Given the description of an element on the screen output the (x, y) to click on. 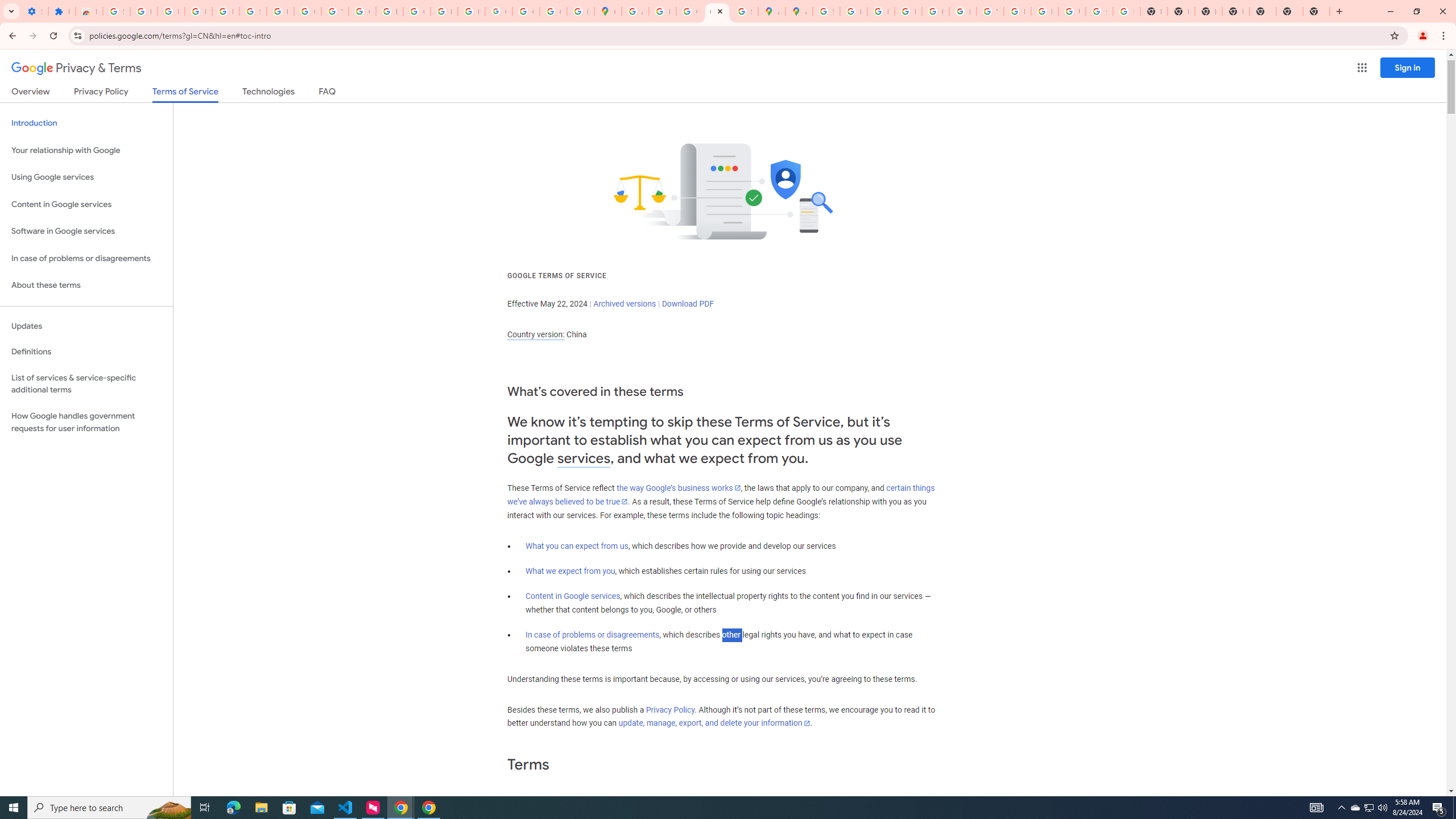
Definitions (86, 352)
YouTube (334, 11)
Privacy Policy (669, 709)
Updates (86, 325)
update, manage, export, and delete your information (714, 723)
Google Account (307, 11)
About these terms (86, 284)
Safety in Our Products - Google Safety Center (743, 11)
Settings - On startup (34, 11)
Privacy Help Center - Policies Help (908, 11)
